Given the description of an element on the screen output the (x, y) to click on. 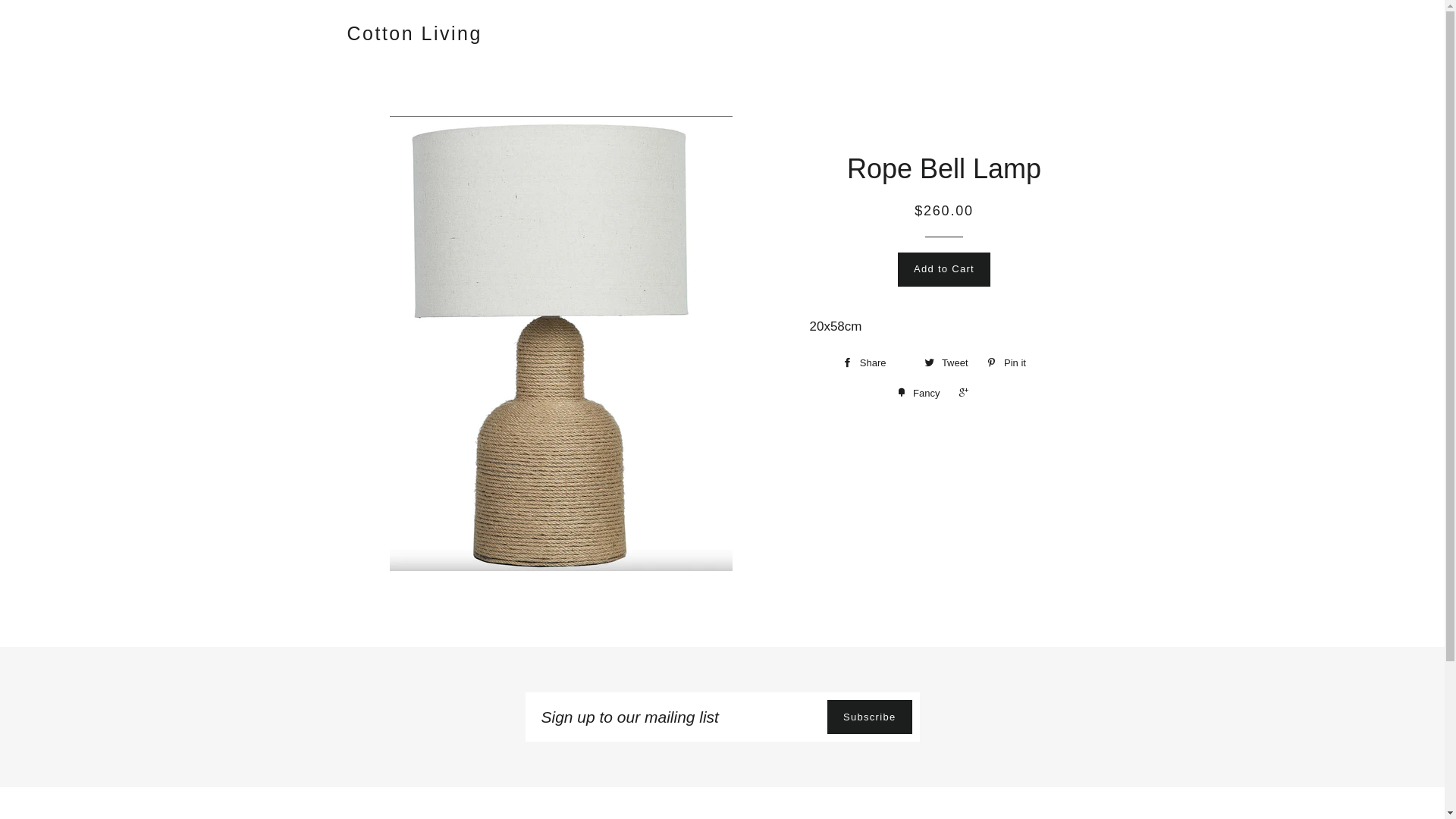
Cotton Living Element type: text (414, 33)
Subscribe Element type: text (869, 716)
Pin it Element type: text (1016, 362)
Fancy Element type: text (918, 393)
Share Element type: text (873, 362)
Add to Cart Element type: text (943, 268)
Tweet Element type: text (945, 362)
